Given the description of an element on the screen output the (x, y) to click on. 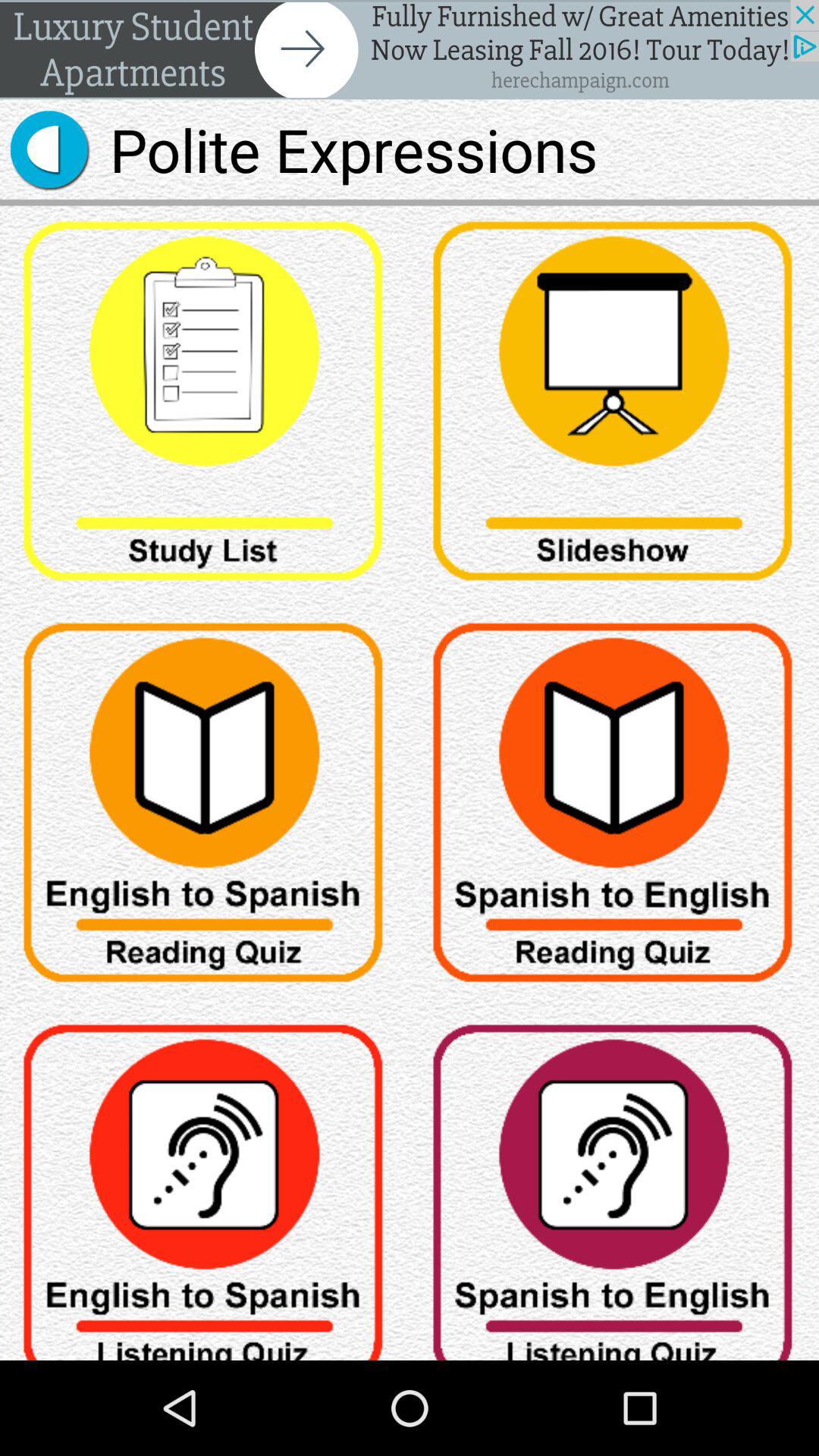
start slideshow (614, 406)
